Given the description of an element on the screen output the (x, y) to click on. 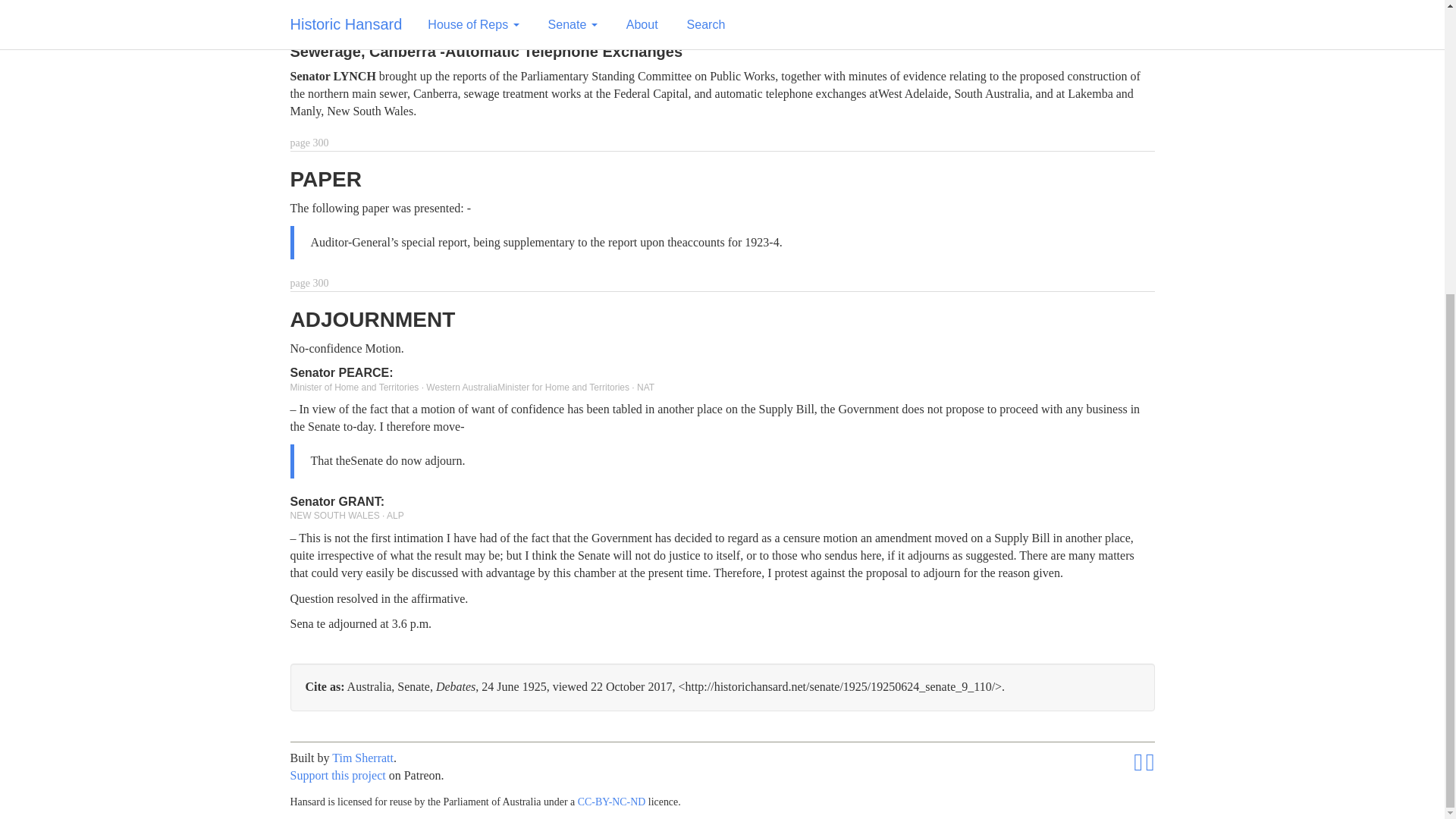
Support this project (337, 775)
CC-BY-NC-ND (612, 801)
Tim Sherratt (362, 757)
